Given the description of an element on the screen output the (x, y) to click on. 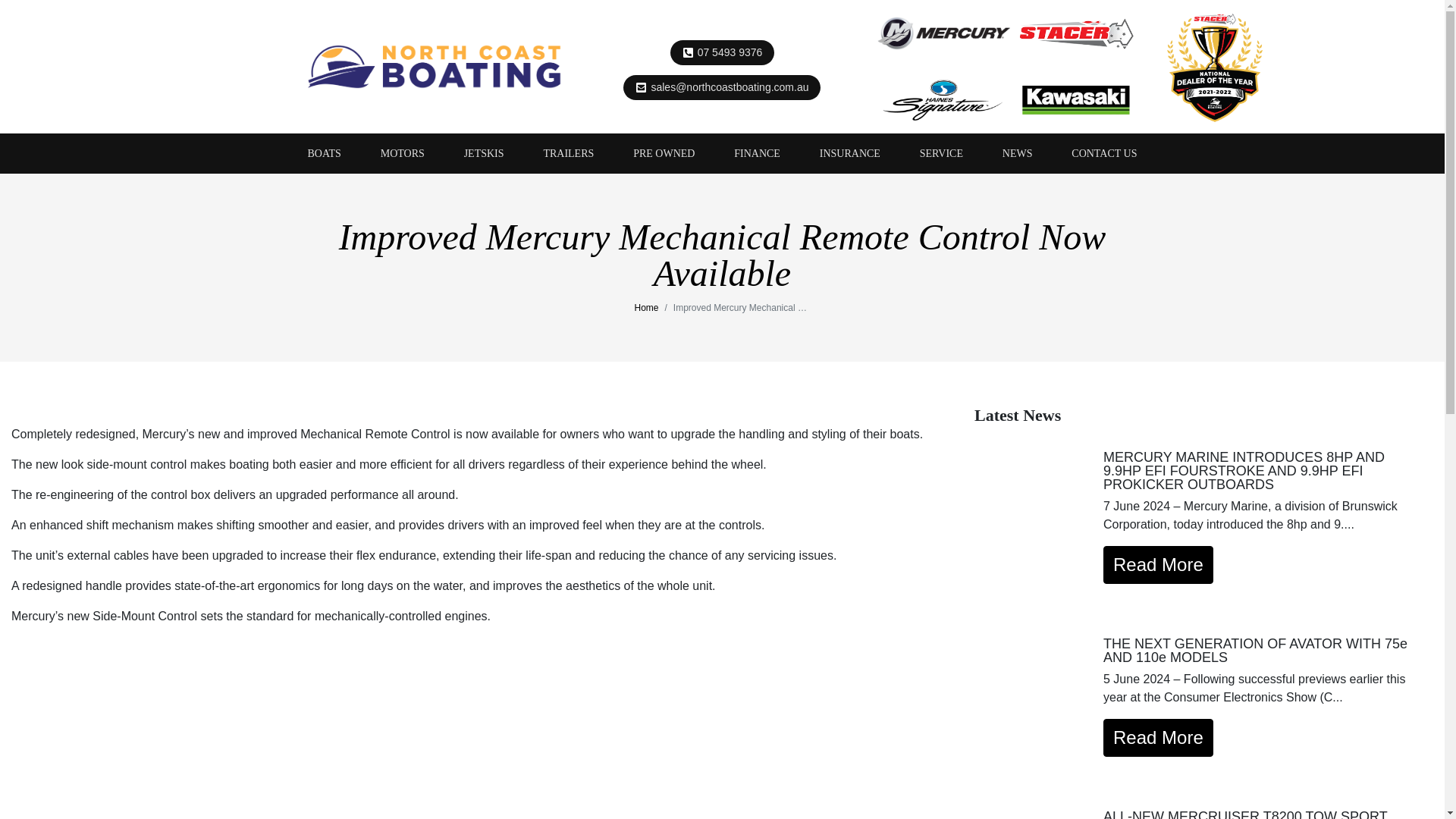
BOATS (324, 153)
07 5493 9376 (729, 52)
... (434, 66)
